Given the description of an element on the screen output the (x, y) to click on. 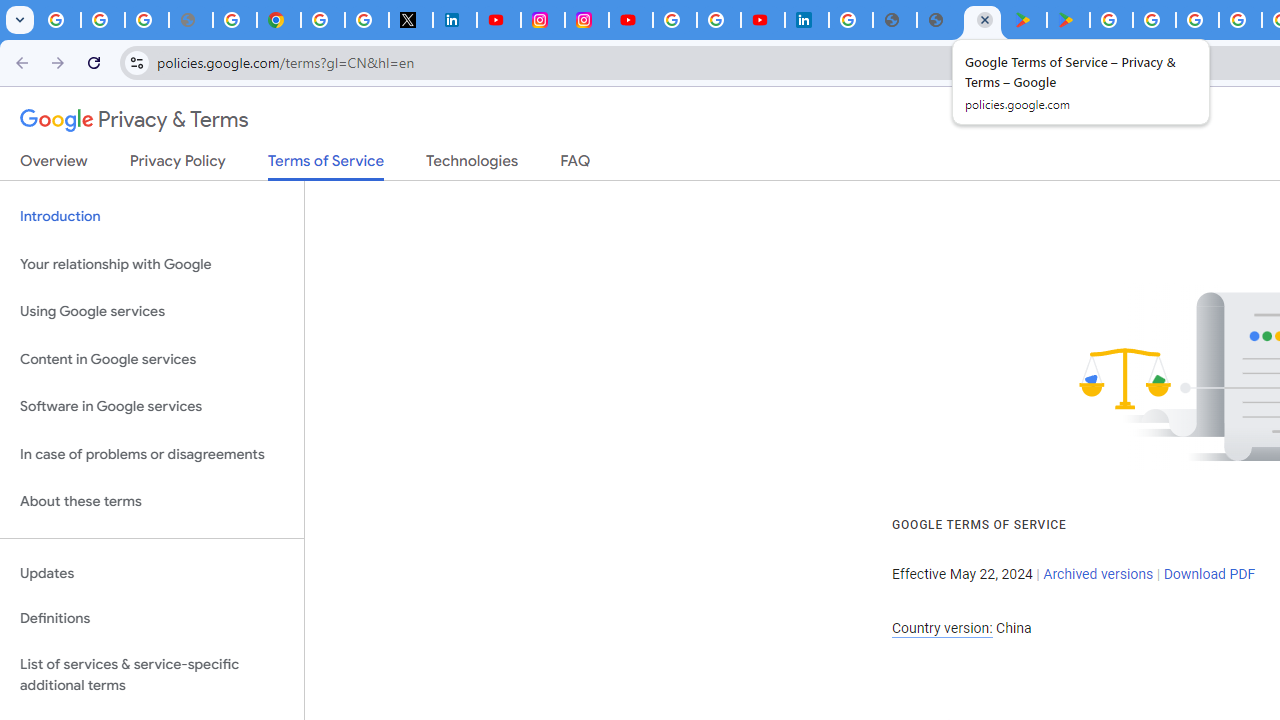
X (410, 20)
Forward (57, 62)
google_privacy_policy_en.pdf (894, 20)
FAQ (575, 165)
Your relationship with Google (152, 263)
In case of problems or disagreements (152, 453)
Definitions (152, 619)
Back (19, 62)
Privacy & Terms (134, 120)
support.google.com - Network error (190, 20)
